Given the description of an element on the screen output the (x, y) to click on. 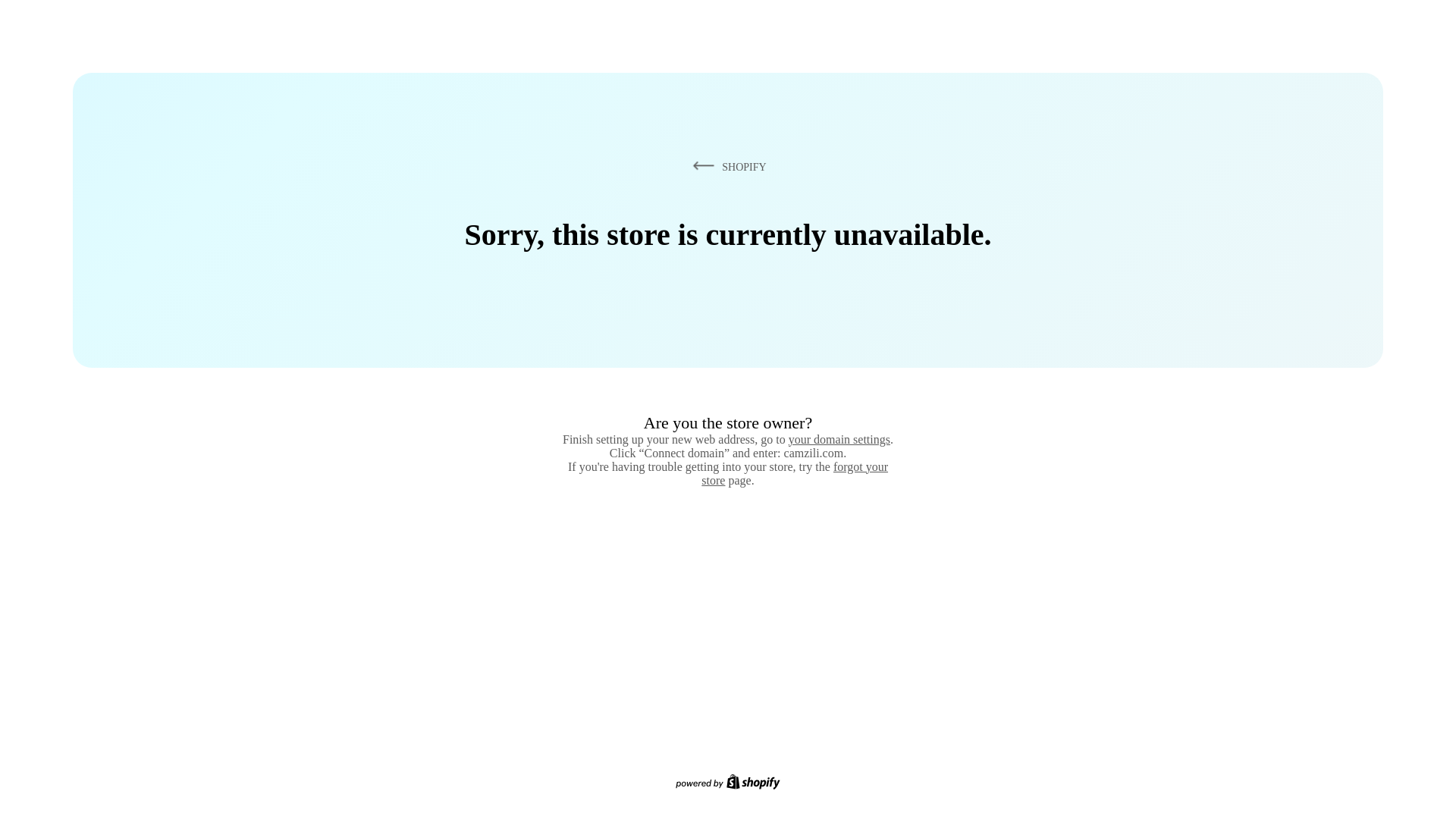
your domain settings (839, 439)
forgot your store (794, 473)
SHOPIFY (726, 166)
